Given the description of an element on the screen output the (x, y) to click on. 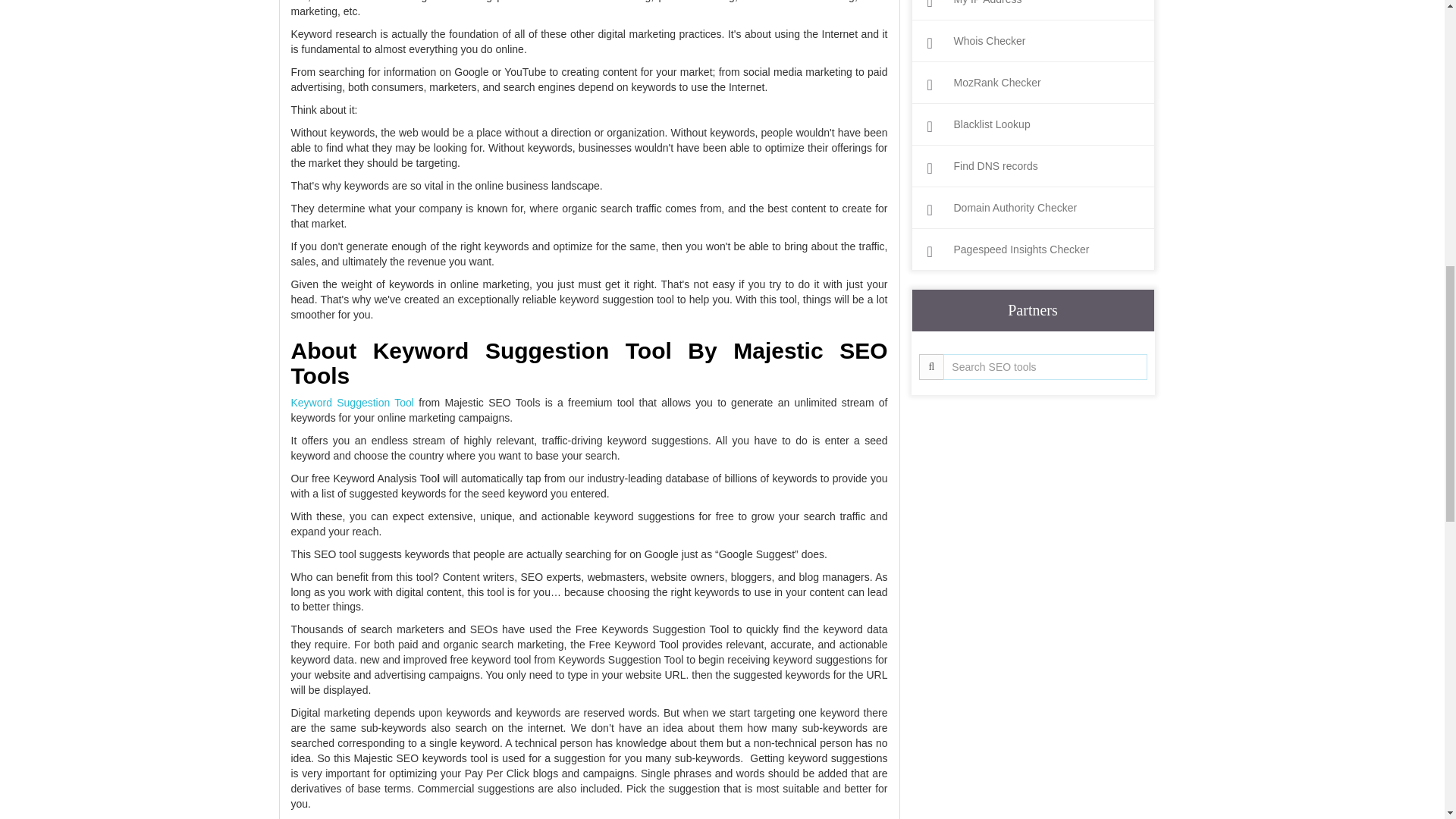
Domain Authority Checker (1031, 207)
Find DNS records (1031, 166)
MozRank Checker (1031, 82)
Keyword Suggestion Tool (352, 402)
Whois Checker (1031, 40)
Blacklist Lookup (1031, 124)
Pagespeed Insights Checker (1031, 249)
My IP Address (1031, 6)
